Given the description of an element on the screen output the (x, y) to click on. 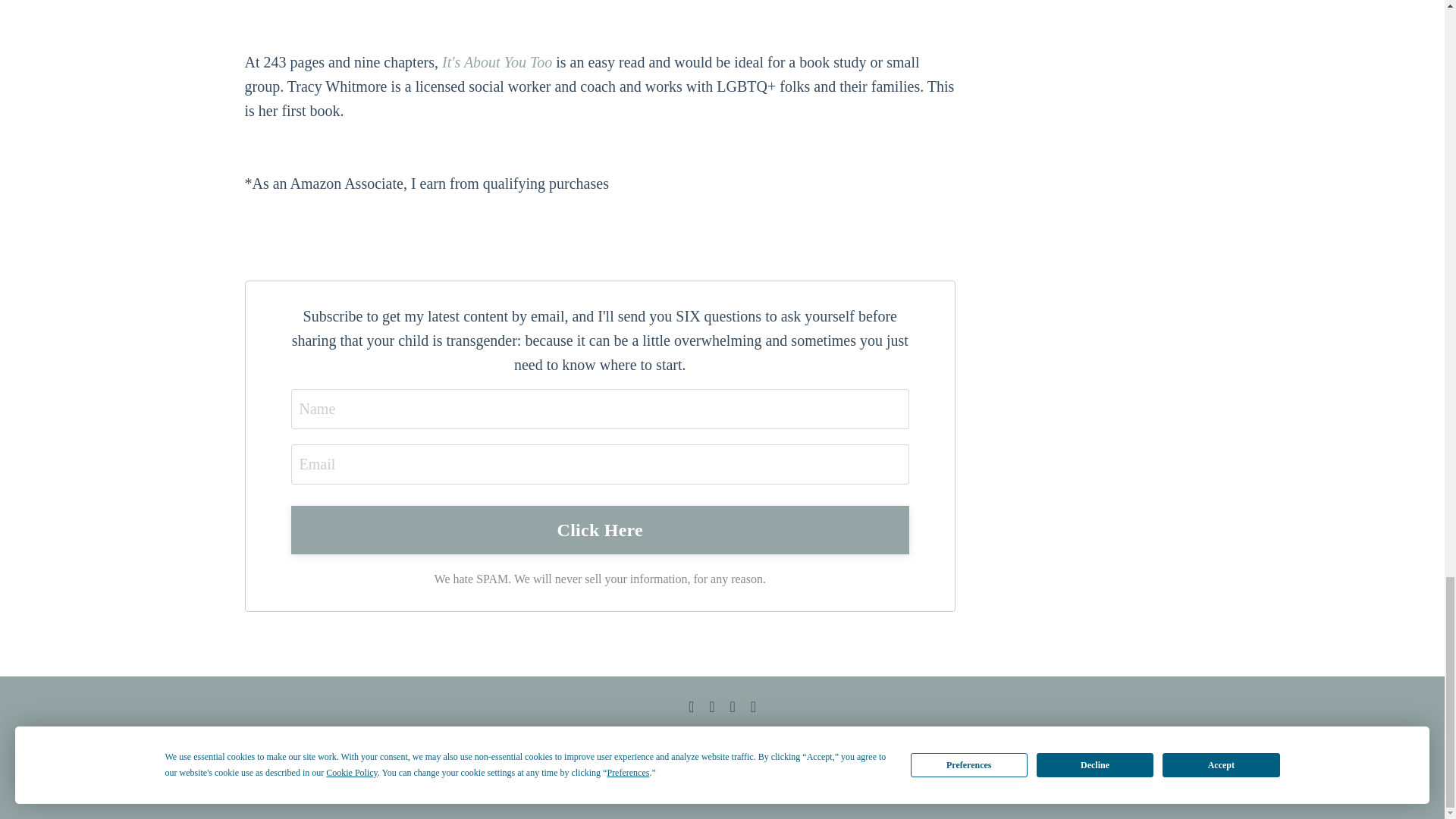
Click Here  (600, 530)
Click Here  (600, 530)
It's About You Too (499, 62)
